Given the description of an element on the screen output the (x, y) to click on. 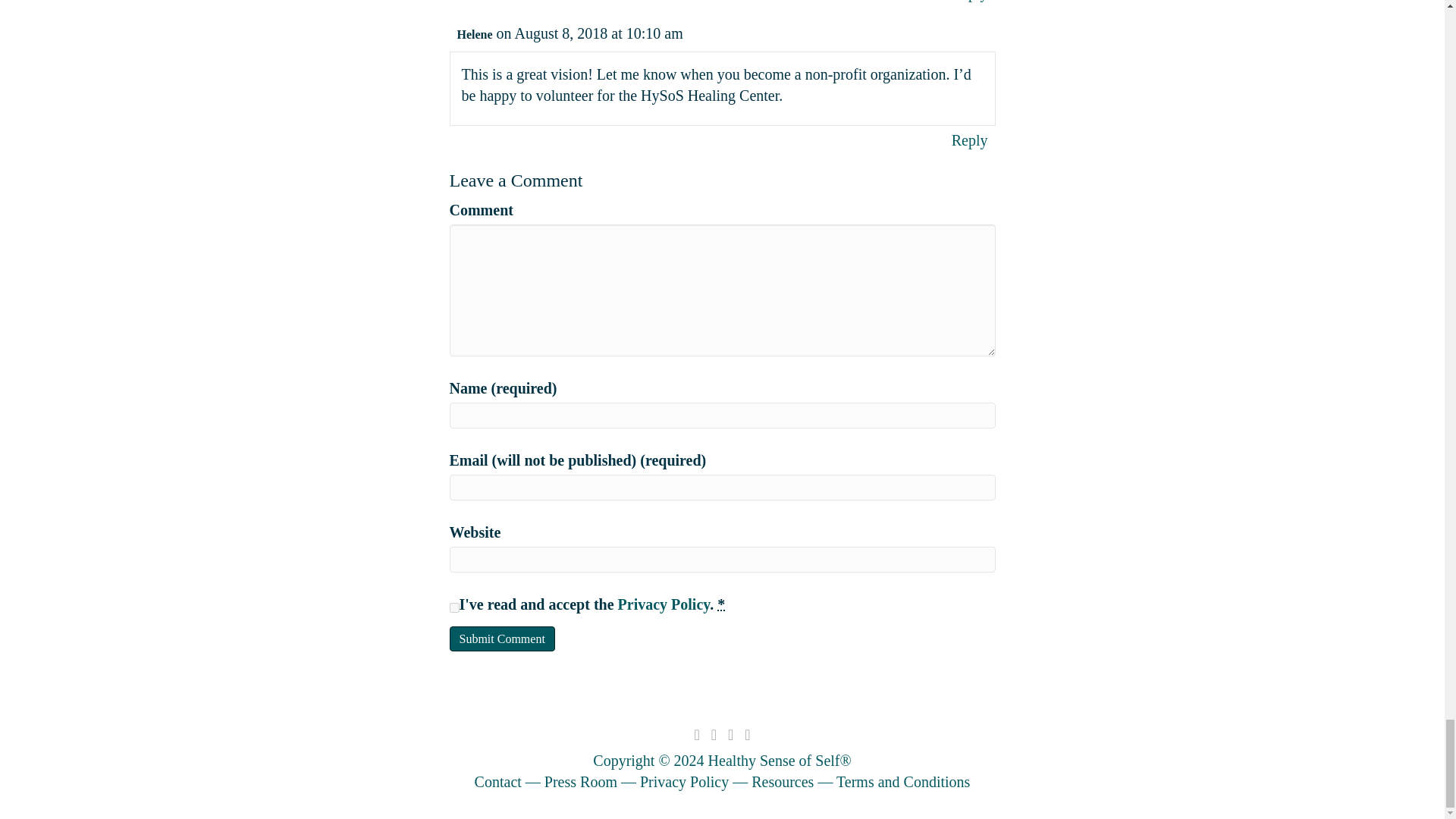
1 (453, 608)
You need to accept this checkbox (721, 604)
Submit Comment (501, 638)
